Given the description of an element on the screen output the (x, y) to click on. 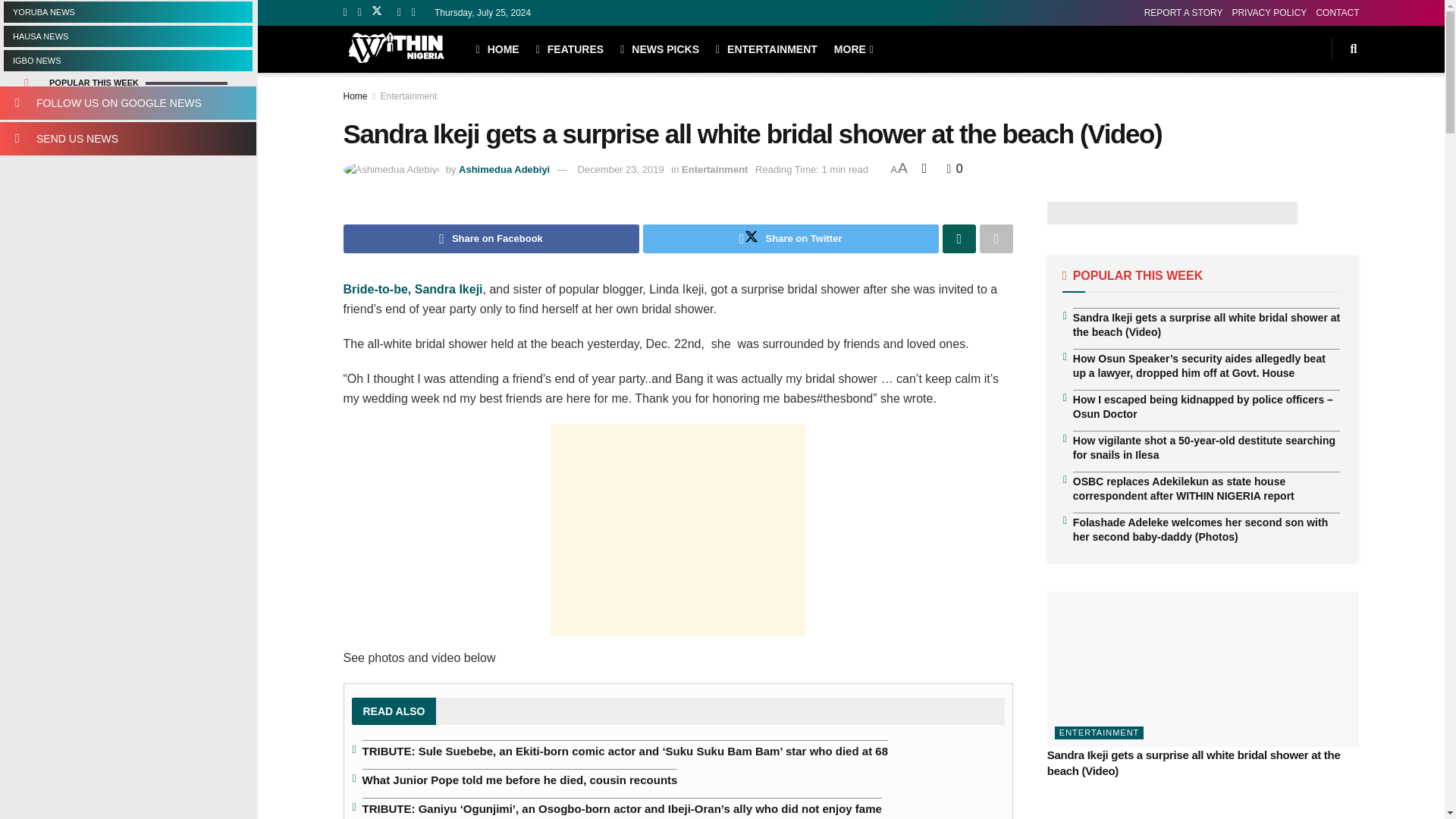
HAUSA NEWS (127, 35)
SEND NEWS TO WITHIN NIGERIA (128, 138)
FOLLOW US ON GOOGLE NEWS (128, 102)
YORUBA NEWS (127, 11)
CONTACT (1337, 12)
SEND US NEWS (128, 138)
ENTERTAINMENT (766, 48)
WITHIN NIGERIA ON GOOGLE NEWS (128, 102)
HOME (497, 48)
NEWS PICKS (659, 48)
HAUSA NEWS (127, 35)
IGBO NEWS (127, 60)
PRIVACY POLICY (1268, 12)
REPORT A STORY (1183, 12)
YORUBA NEWS (127, 11)
